Given the description of an element on the screen output the (x, y) to click on. 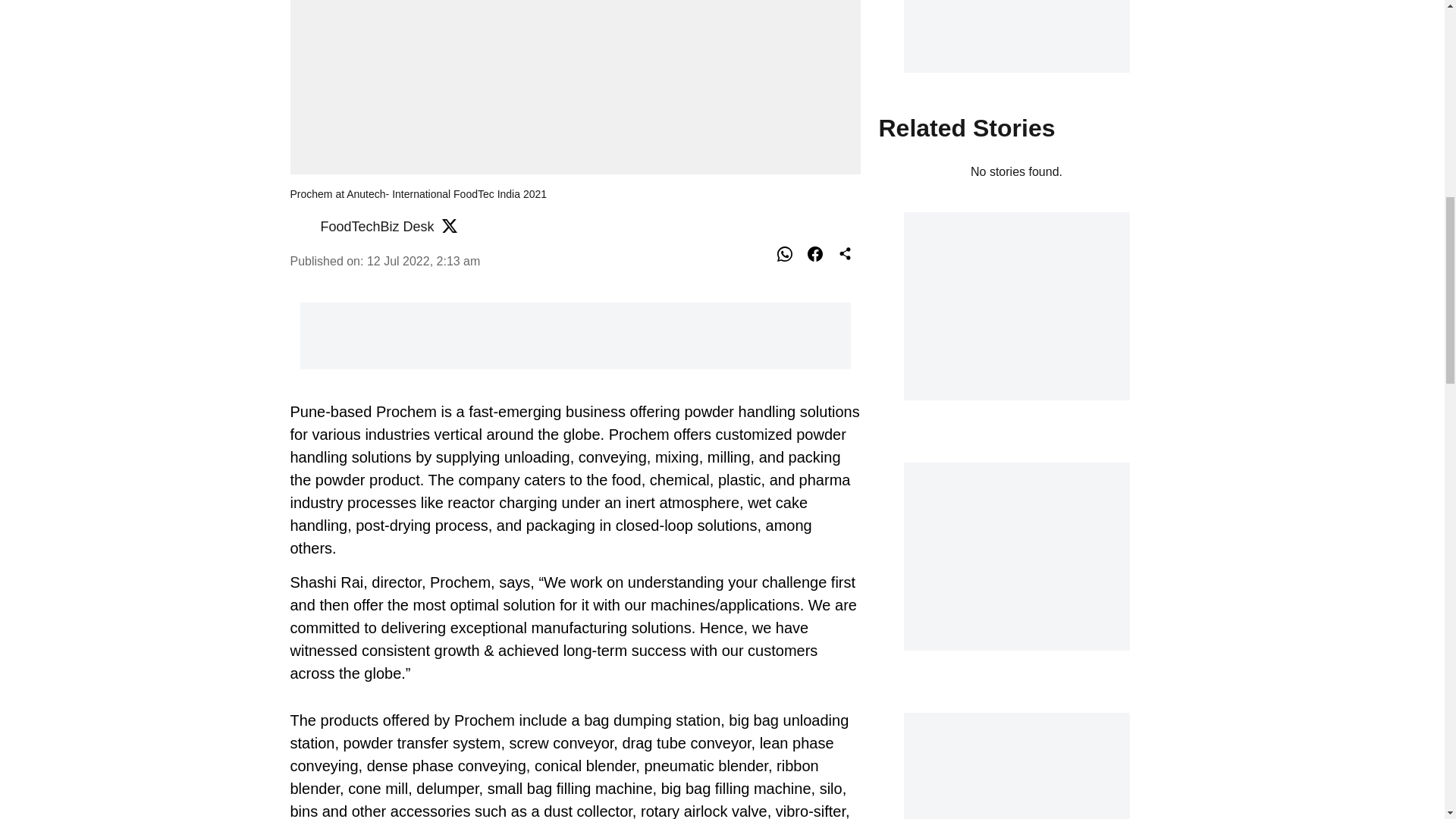
FoodTechBiz Desk (376, 226)
2022-07-11 18:13 (423, 260)
